Given the description of an element on the screen output the (x, y) to click on. 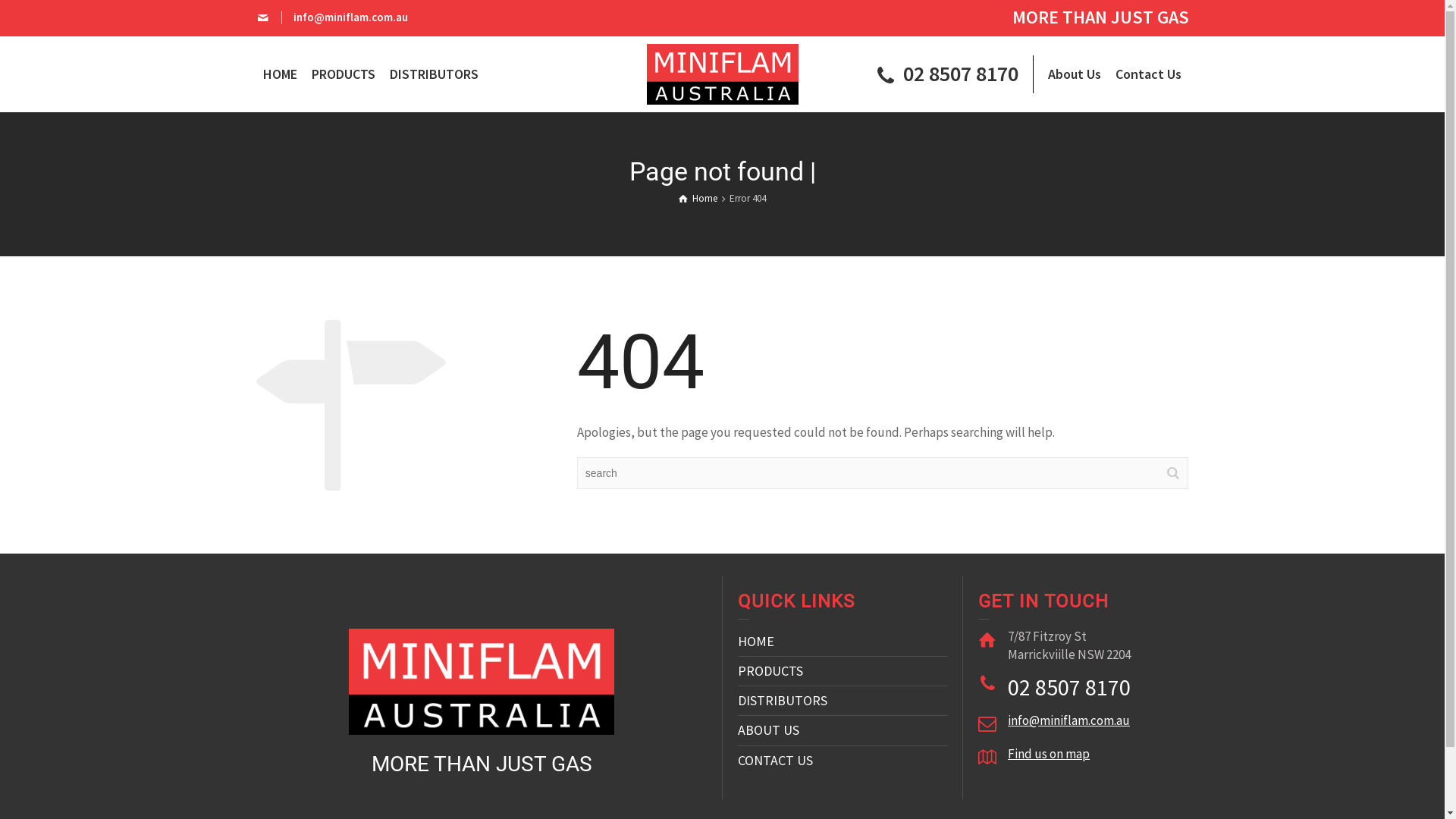
CONTACT US Element type: text (774, 759)
HOME Element type: text (755, 640)
Home Element type: text (697, 197)
PRODUCTS Element type: text (769, 670)
DISTRIBUTORS Element type: text (781, 700)
DISTRIBUTORS Element type: text (433, 74)
Contact Us Element type: text (1148, 74)
Find us on map Element type: text (1048, 753)
HOME Element type: text (280, 74)
info@miniflam.com.au Element type: text (350, 16)
info@miniflam.com.au Element type: text (1068, 720)
02 8507 8170 Element type: text (944, 75)
ABOUT US Element type: text (767, 729)
MINIFLAM AUSTRALIA Element type: hover (721, 72)
About Us Element type: text (1073, 74)
Email Element type: hover (263, 18)
02 8507 8170 Element type: text (1068, 686)
PRODUCTS Element type: text (343, 74)
